Given the description of an element on the screen output the (x, y) to click on. 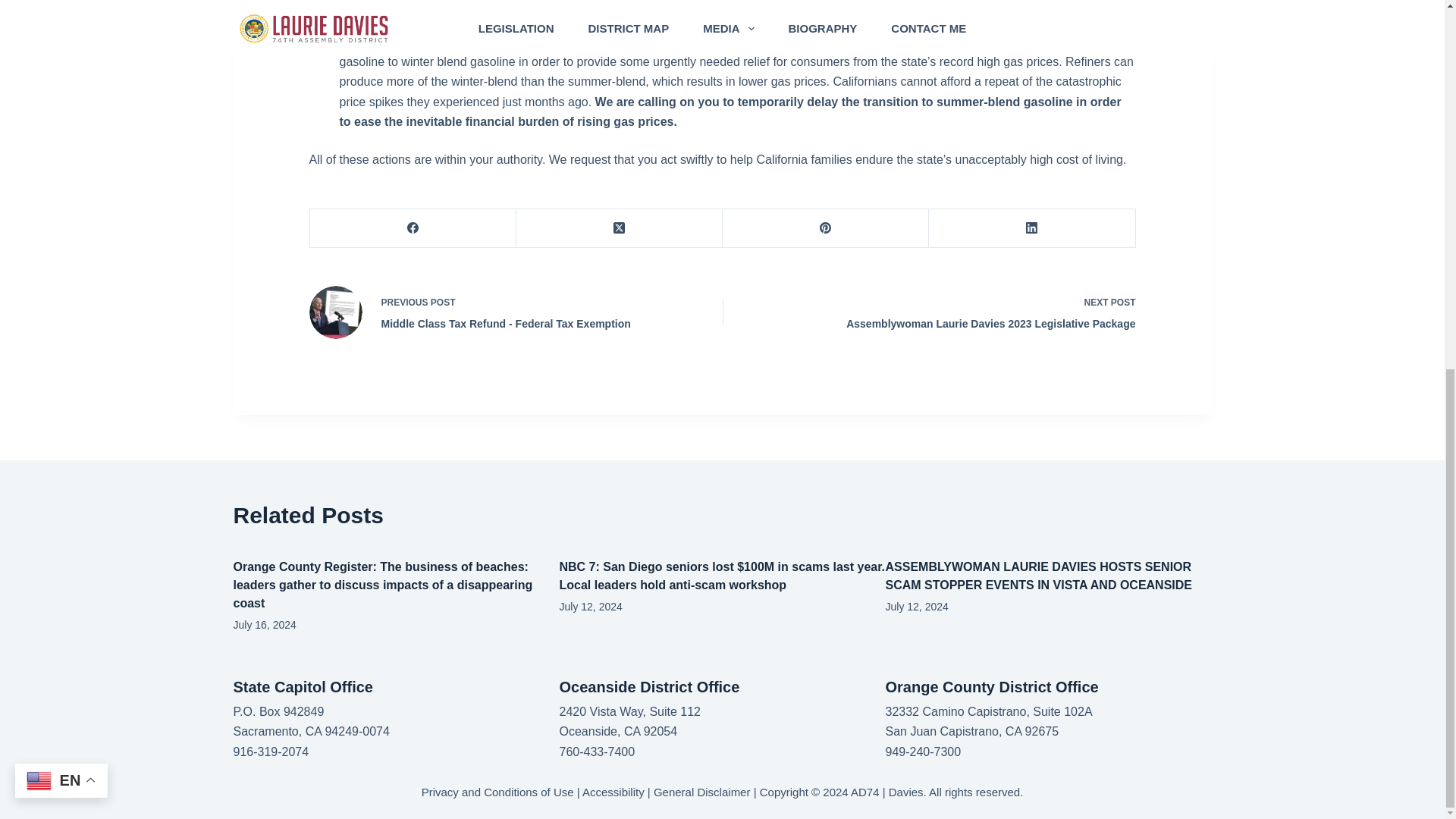
General Disclaimer (702, 791)
760-433-7400 (596, 751)
916-319-2074 (270, 751)
Privacy and Conditions of Use (497, 791)
949-240-7300 (922, 751)
Accessibility (613, 791)
